Given the description of an element on the screen output the (x, y) to click on. 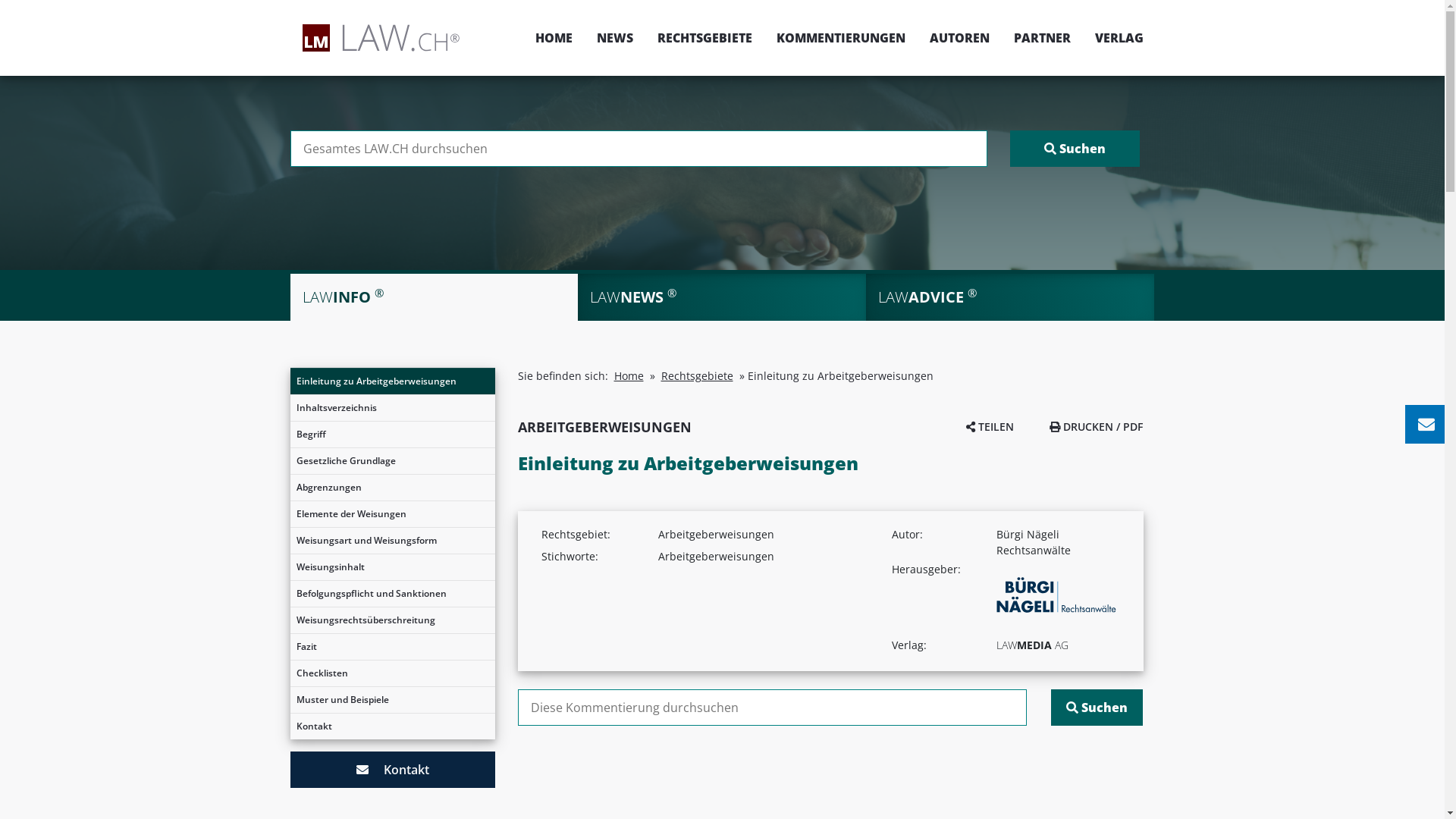
NEWS Element type: text (613, 37)
Inhaltsverzeichnis Element type: text (391, 407)
Kontakt Element type: text (391, 726)
RECHTSGEBIETE Element type: text (703, 37)
Fazit Element type: text (391, 646)
VERLAG Element type: text (1112, 37)
Elemente der Weisungen Element type: text (391, 514)
Begriff Element type: text (391, 434)
Weisungsart und Weisungsform Element type: text (391, 540)
Einleitung zu Arbeitgeberweisungen Element type: text (391, 381)
Rechtsgebiete Element type: text (697, 375)
Weisungsinhalt Element type: text (391, 567)
Abgrenzungen Element type: text (391, 487)
    Kontakt Element type: text (391, 769)
Home Element type: text (628, 375)
Muster und Beispiele Element type: text (391, 699)
Suchen nach: Element type: hover (771, 707)
HOME Element type: text (553, 37)
PARTNER Element type: text (1041, 37)
Checklisten Element type: text (391, 673)
Suchen nach: Element type: hover (637, 148)
 DRUCKEN / PDF Element type: text (1095, 426)
KOMMENTIERUNGEN Element type: text (840, 37)
Befolgungspflicht und Sanktionen Element type: text (391, 593)
AUTOREN Element type: text (959, 37)
 TEILEN Element type: text (989, 426)
Gesetzliche Grundlage Element type: text (391, 460)
